Given the description of an element on the screen output the (x, y) to click on. 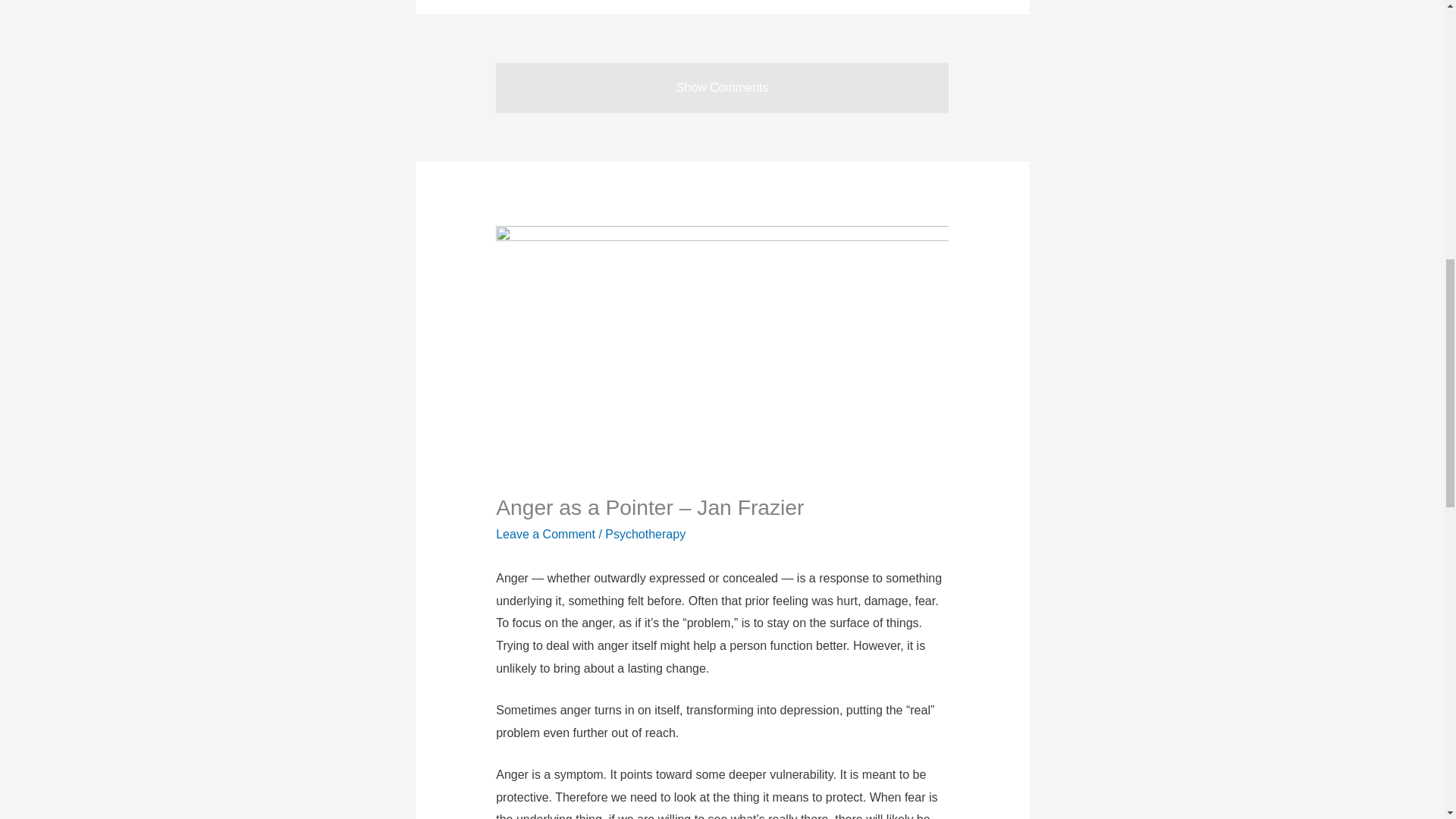
Psychotherapy (645, 533)
Leave a Comment (545, 533)
